Given the description of an element on the screen output the (x, y) to click on. 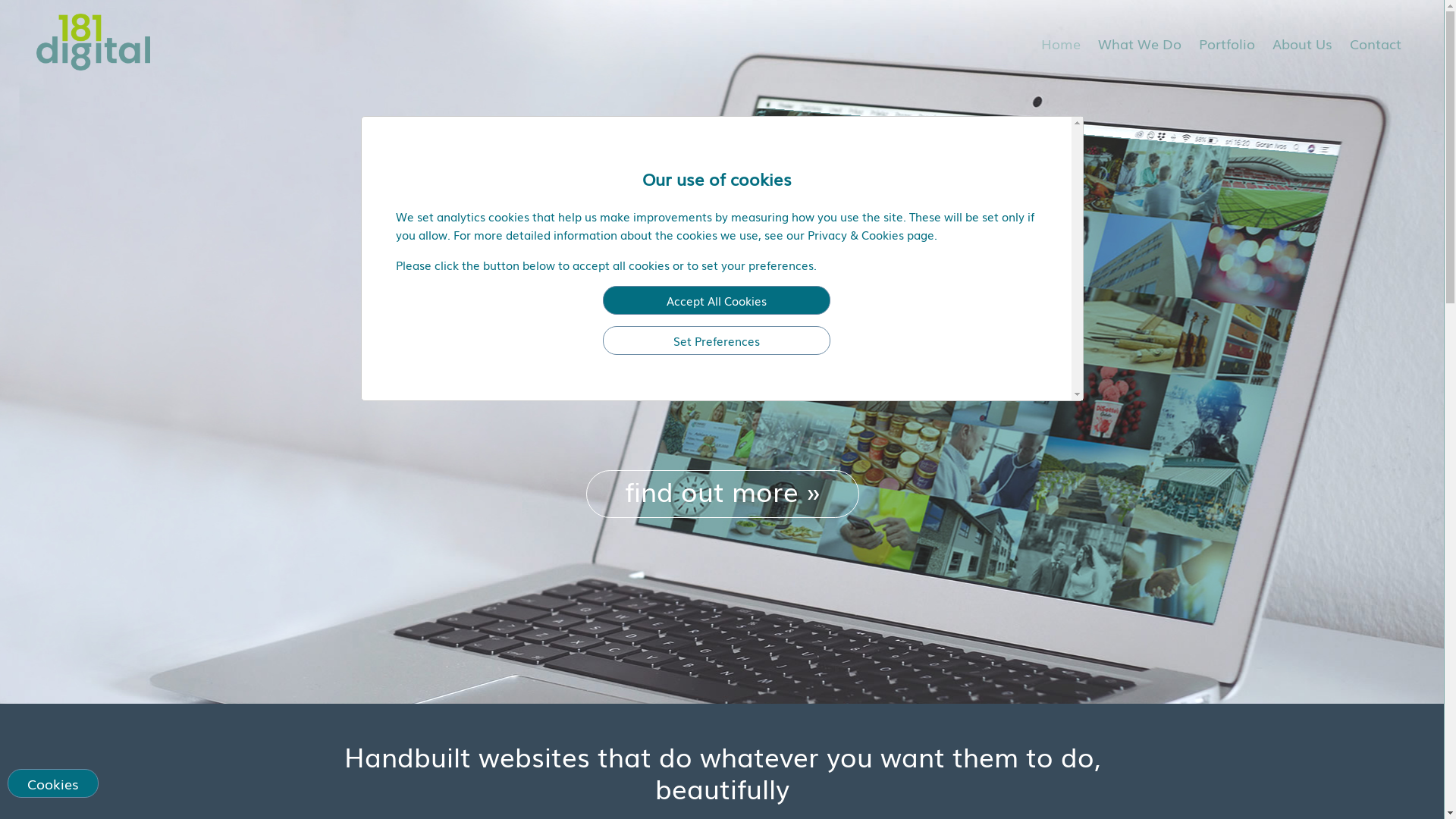
Home Element type: text (1060, 43)
About Us Element type: text (1302, 43)
Privacy & Cookies page Element type: text (870, 233)
Cookies Element type: text (52, 782)
What We Do Element type: text (1139, 43)
Accept All Cookies Element type: text (716, 299)
Set Preferences Element type: text (716, 340)
Portfolio Element type: text (1226, 43)
Contact Element type: text (1375, 43)
